Given the description of an element on the screen output the (x, y) to click on. 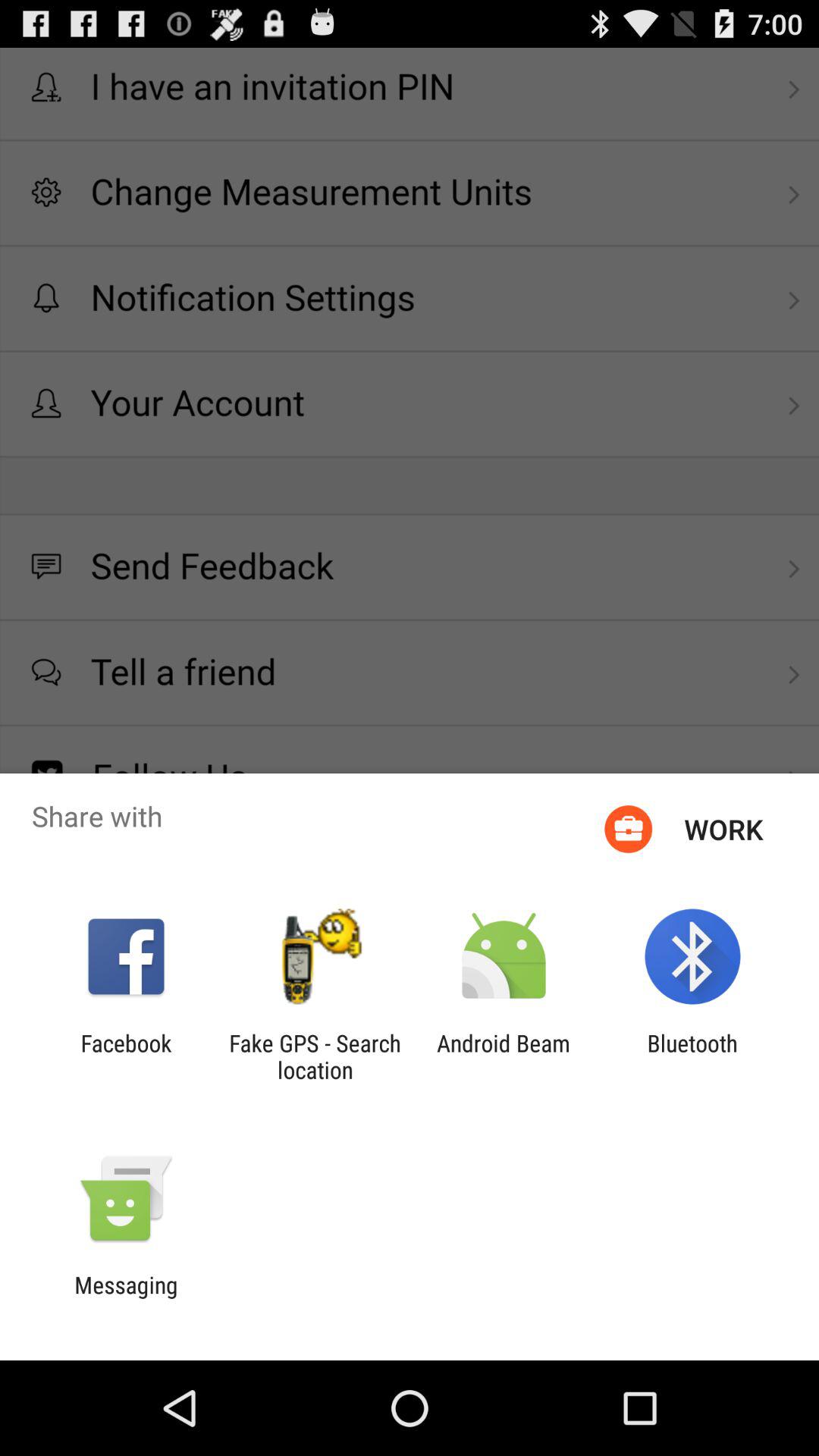
choose item to the left of the fake gps search app (125, 1056)
